Given the description of an element on the screen output the (x, y) to click on. 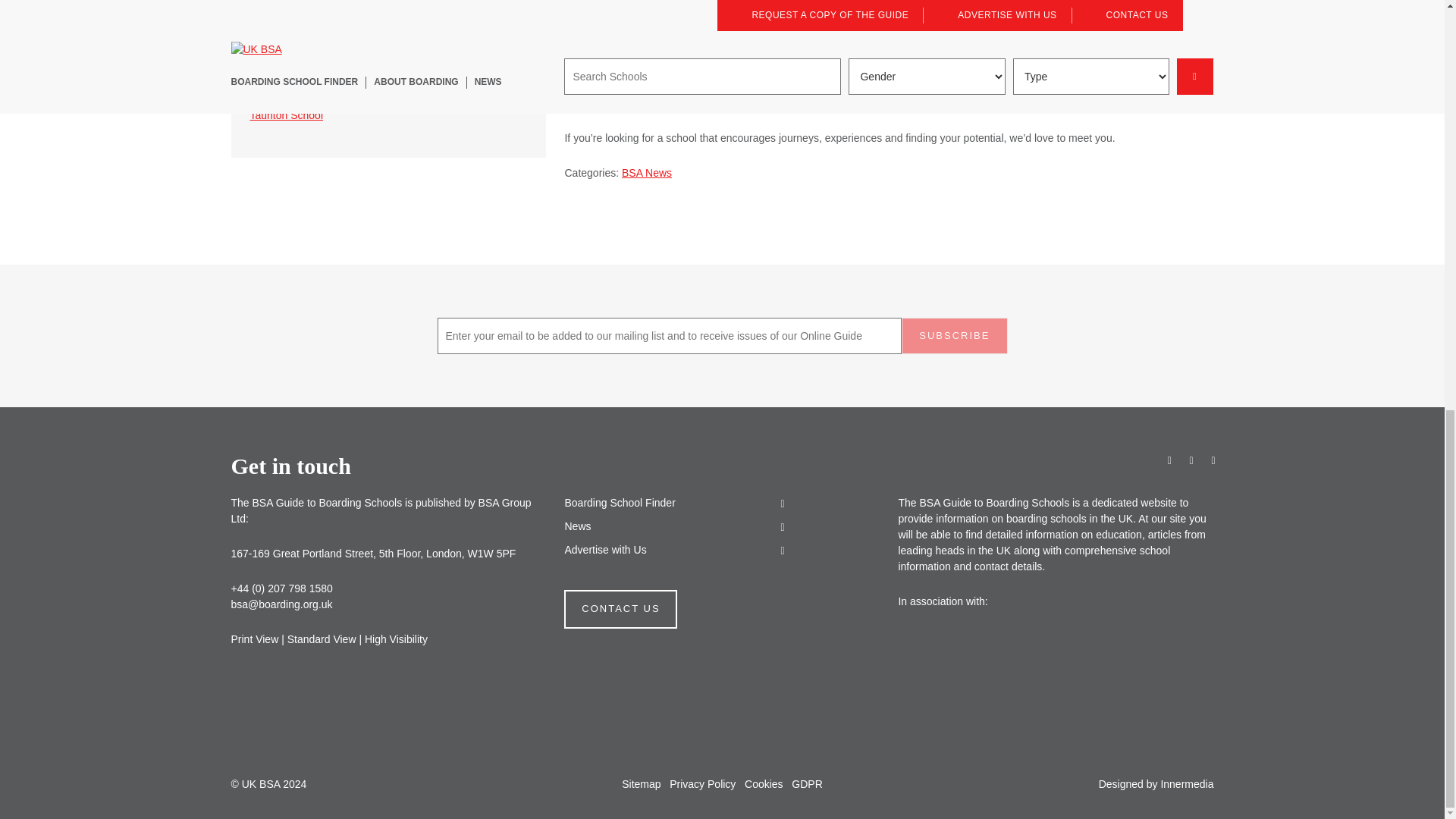
Switch to Print (254, 639)
BSA News (646, 173)
Switch to Standard Visibility (321, 639)
Switch to High Visibility (396, 639)
